Given the description of an element on the screen output the (x, y) to click on. 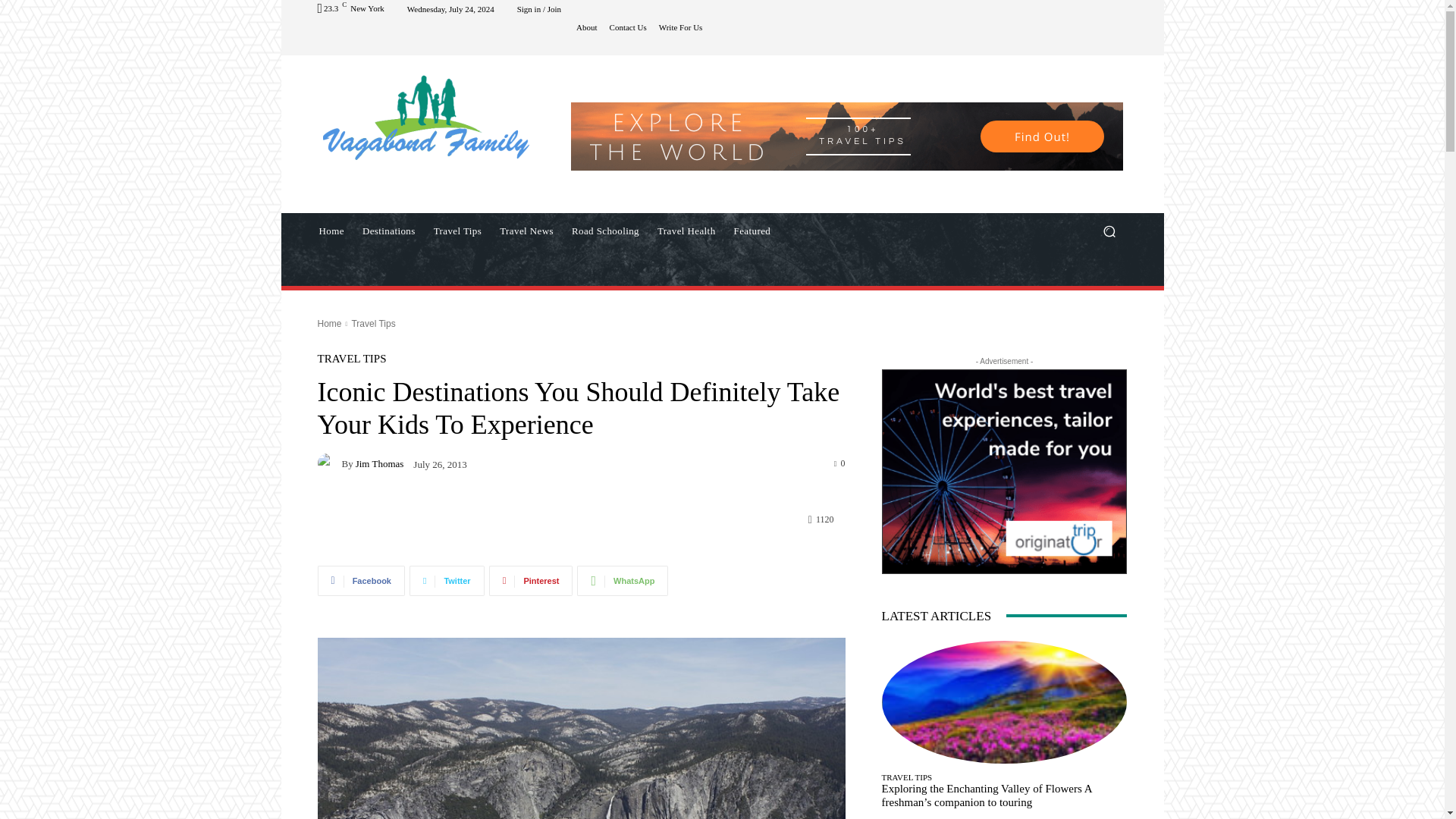
Featured (752, 230)
View all posts in Travel Tips (372, 323)
Travel Tips (458, 230)
Write For Us (681, 27)
Family Travel Blog  (426, 115)
Home (328, 323)
Destinations (389, 230)
Twitter (446, 580)
Pinterest (531, 580)
Facebook (360, 580)
Travel Health (686, 230)
Home (330, 230)
Contact Us (628, 27)
Jim Thomas (328, 463)
Travel Tips (372, 323)
